Given the description of an element on the screen output the (x, y) to click on. 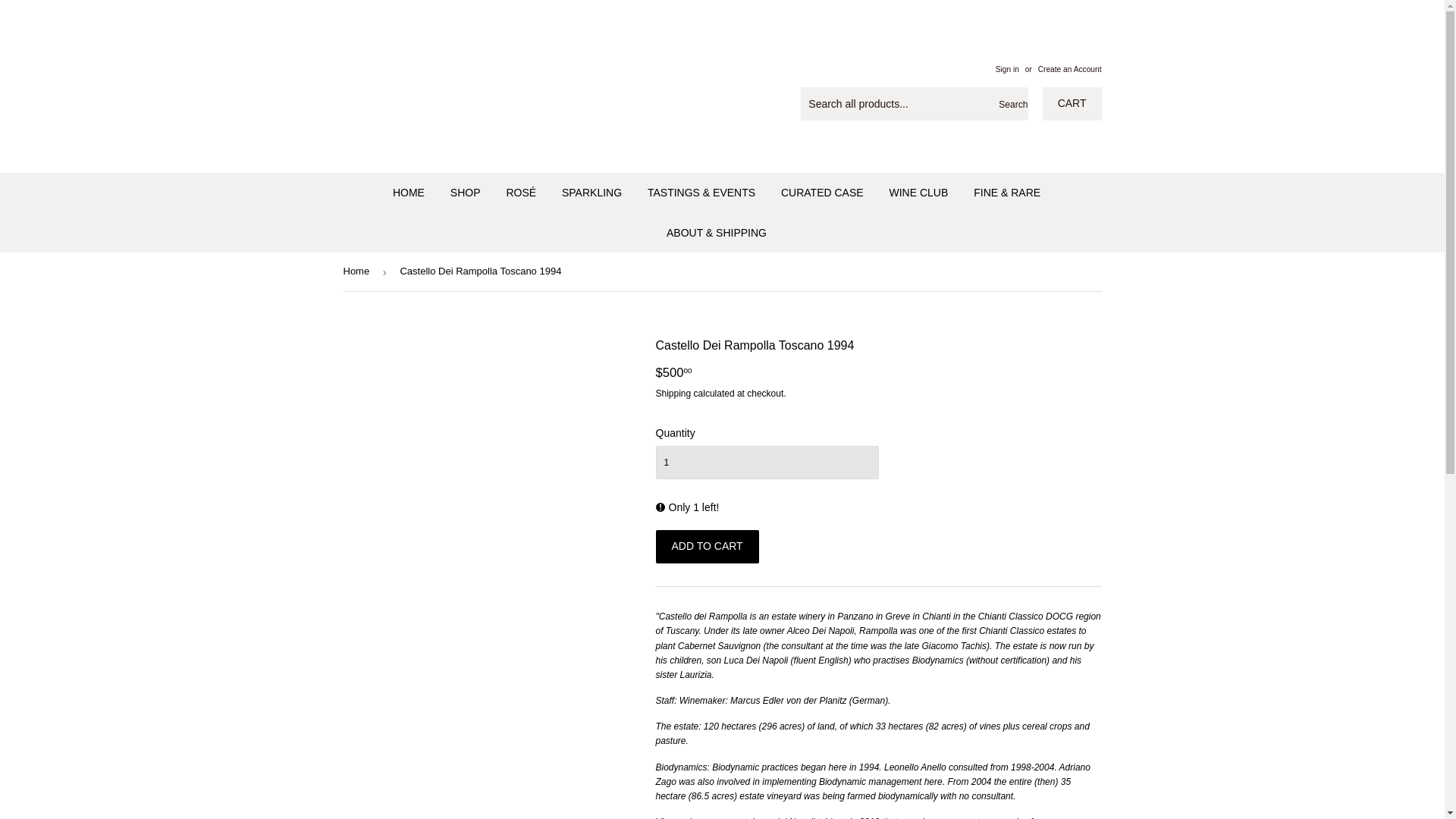
Sign in (1007, 69)
CART (1072, 103)
HOME (408, 192)
SHOP (465, 192)
Create an Account (1070, 69)
1 (766, 462)
Search (1010, 104)
